Given the description of an element on the screen output the (x, y) to click on. 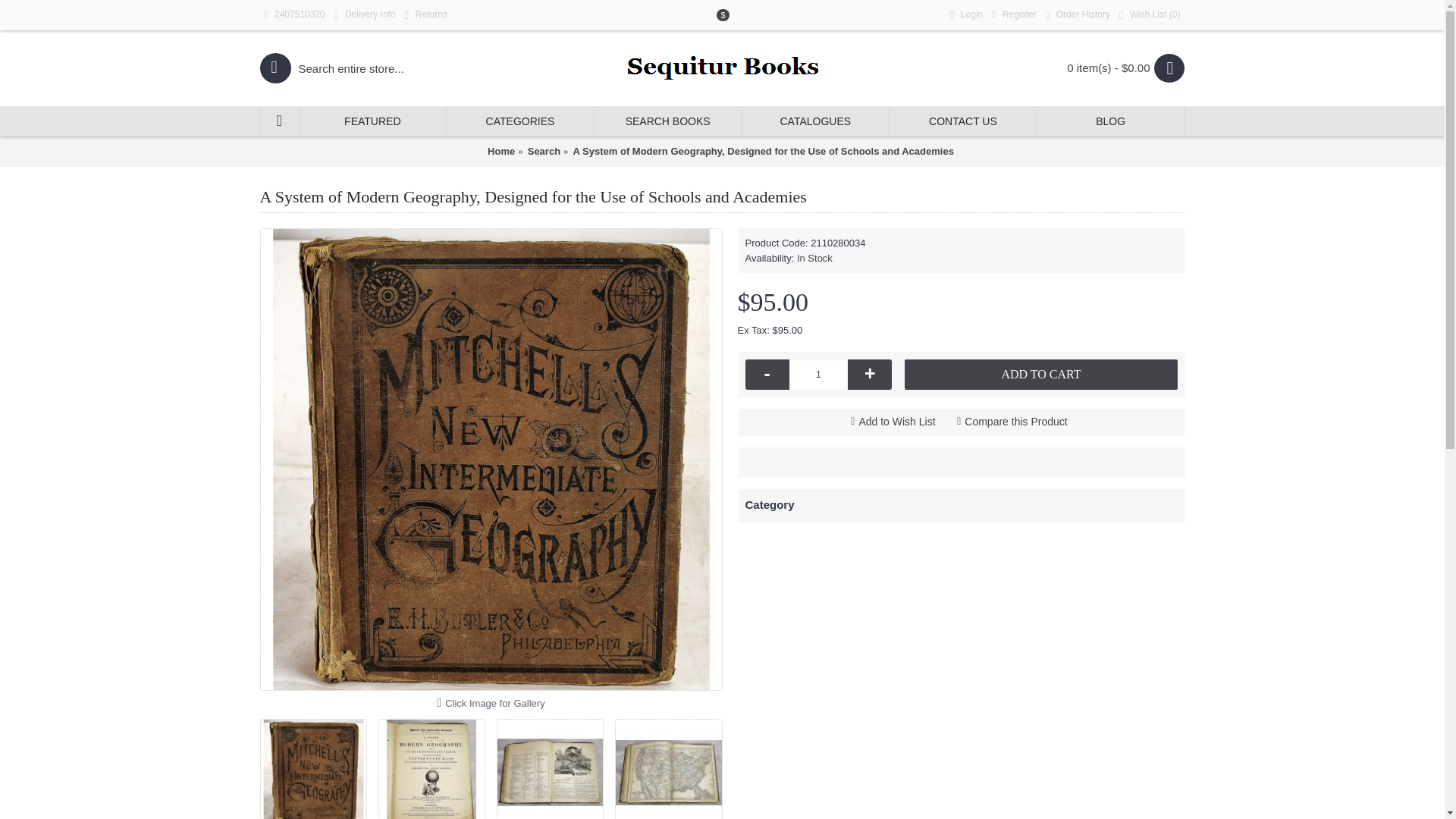
Home (501, 151)
Search (543, 151)
SEARCH BOOKS (667, 121)
Delivery Info (365, 15)
ADD TO CART (1040, 374)
1 (818, 374)
2407510320 (294, 15)
CATEGORIES (520, 121)
Register (1014, 15)
